Given the description of an element on the screen output the (x, y) to click on. 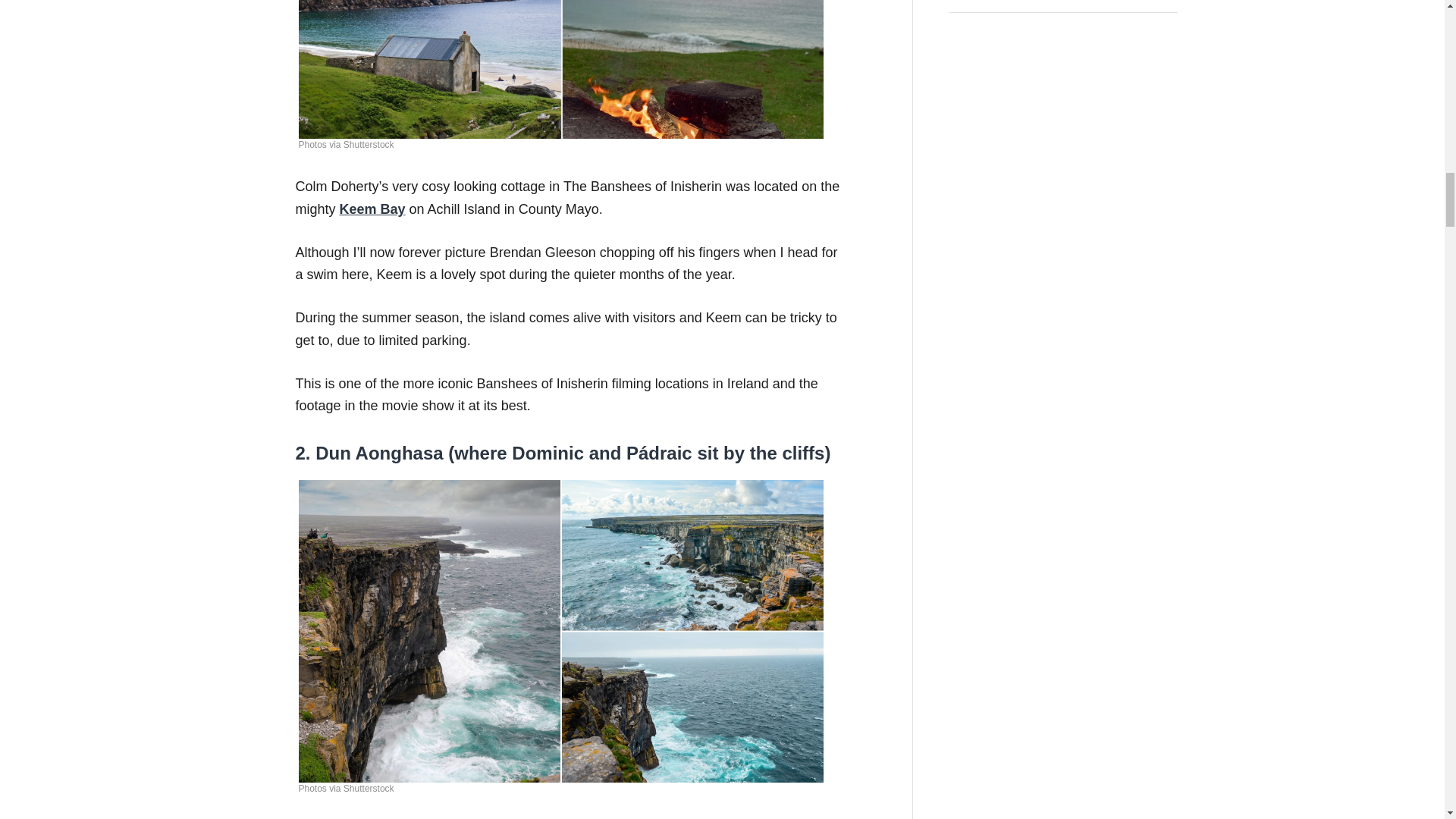
Keem Bay (372, 209)
